Given the description of an element on the screen output the (x, y) to click on. 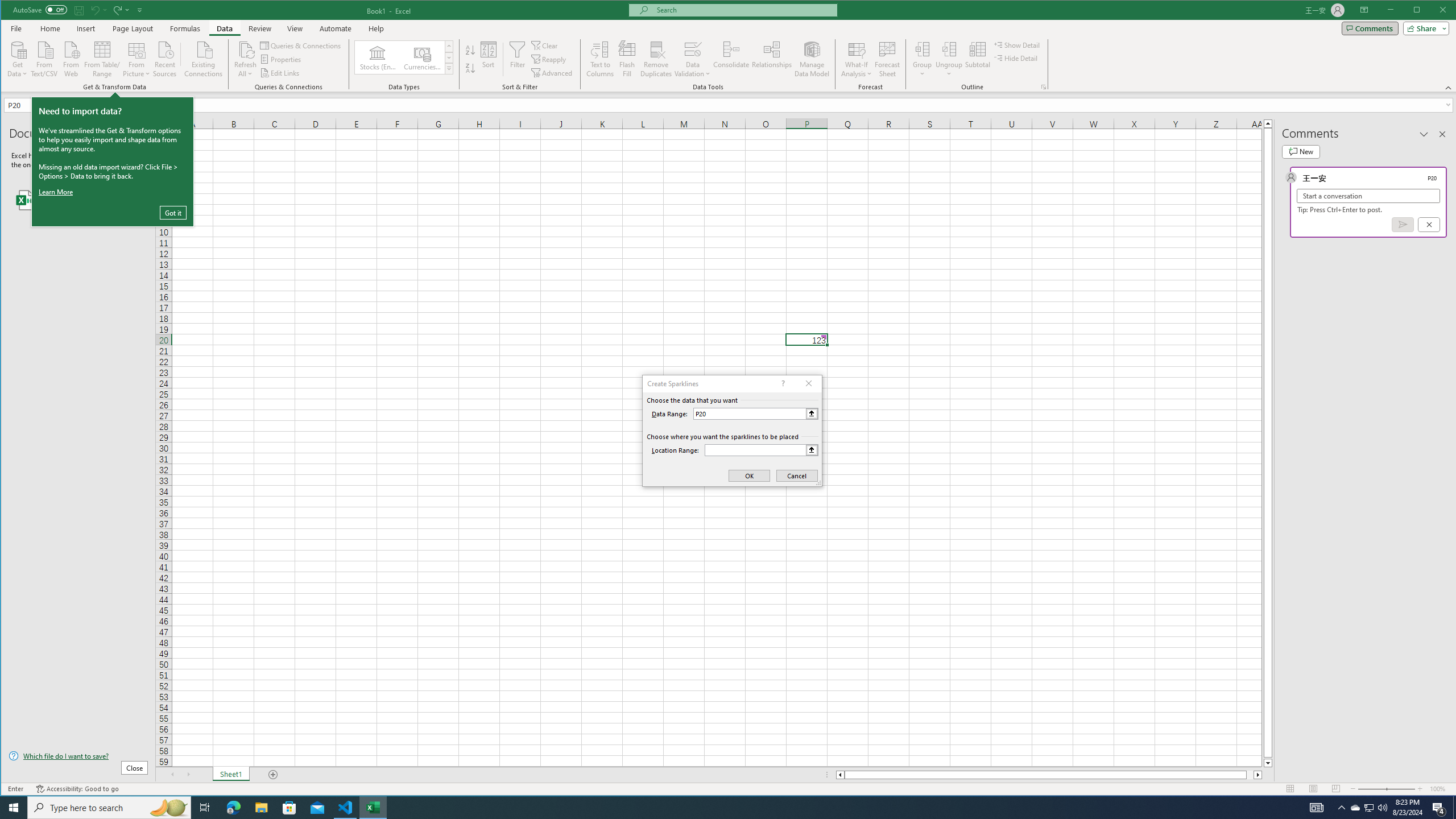
From Text/CSV (44, 57)
Page right (1249, 774)
View (294, 28)
Close (1445, 11)
Reapply (549, 59)
Refresh All (244, 59)
Edit Links (279, 72)
Undo (98, 9)
Line down (1267, 763)
Ungroup... (948, 59)
Name Box (32, 105)
From Picture (136, 57)
Maximize (1432, 11)
Add Sheet (272, 774)
Zoom In (1420, 788)
